Given the description of an element on the screen output the (x, y) to click on. 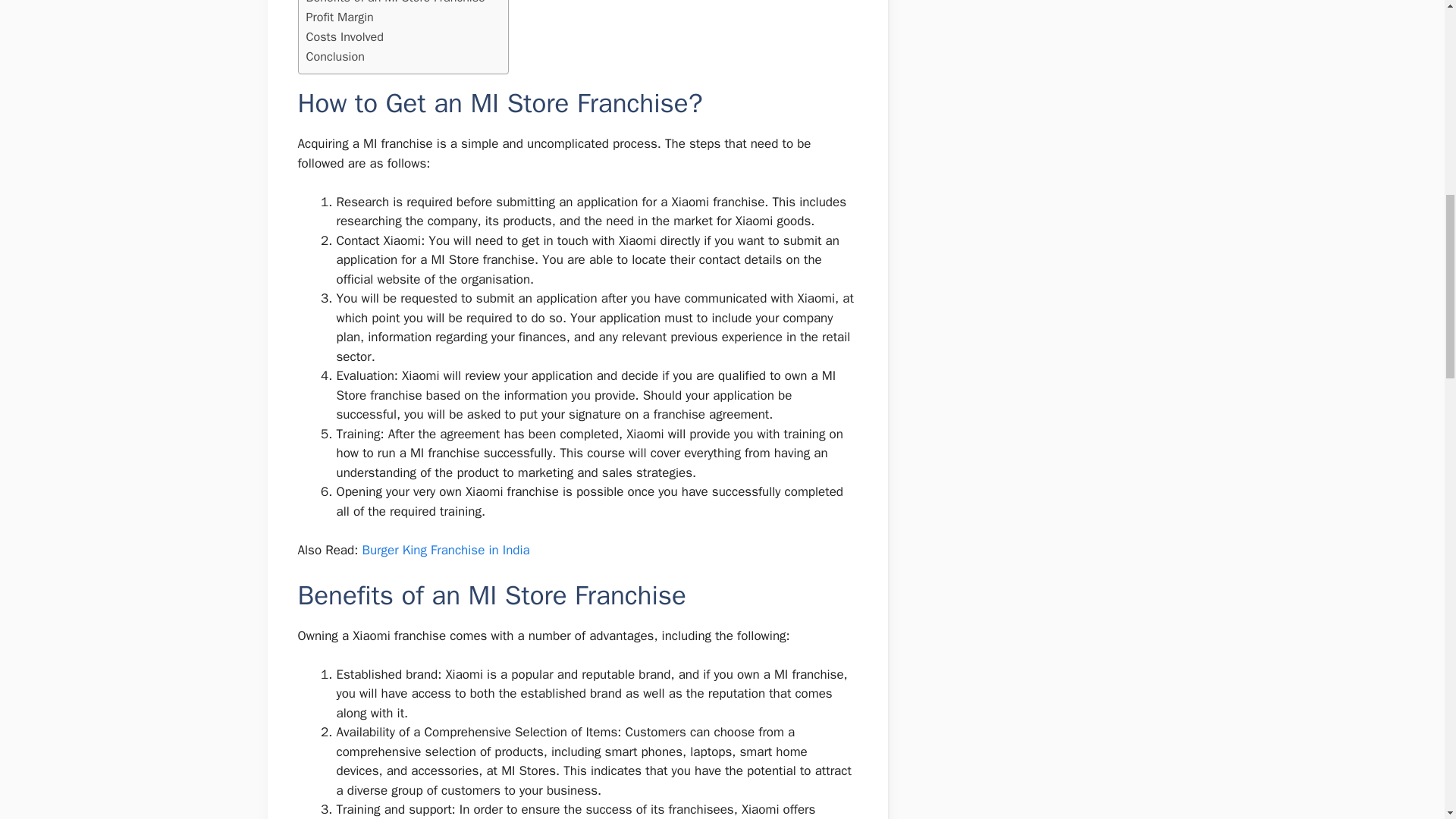
Burger King Franchise in India (445, 549)
Profit Margin (339, 17)
Conclusion (335, 56)
Scroll back to top (1406, 720)
Costs Involved (344, 36)
Profit Margin (339, 17)
Benefits of an MI Store Franchise (394, 3)
Benefits of an MI Store Franchise (394, 3)
Conclusion (335, 56)
Costs Involved (344, 36)
